Given the description of an element on the screen output the (x, y) to click on. 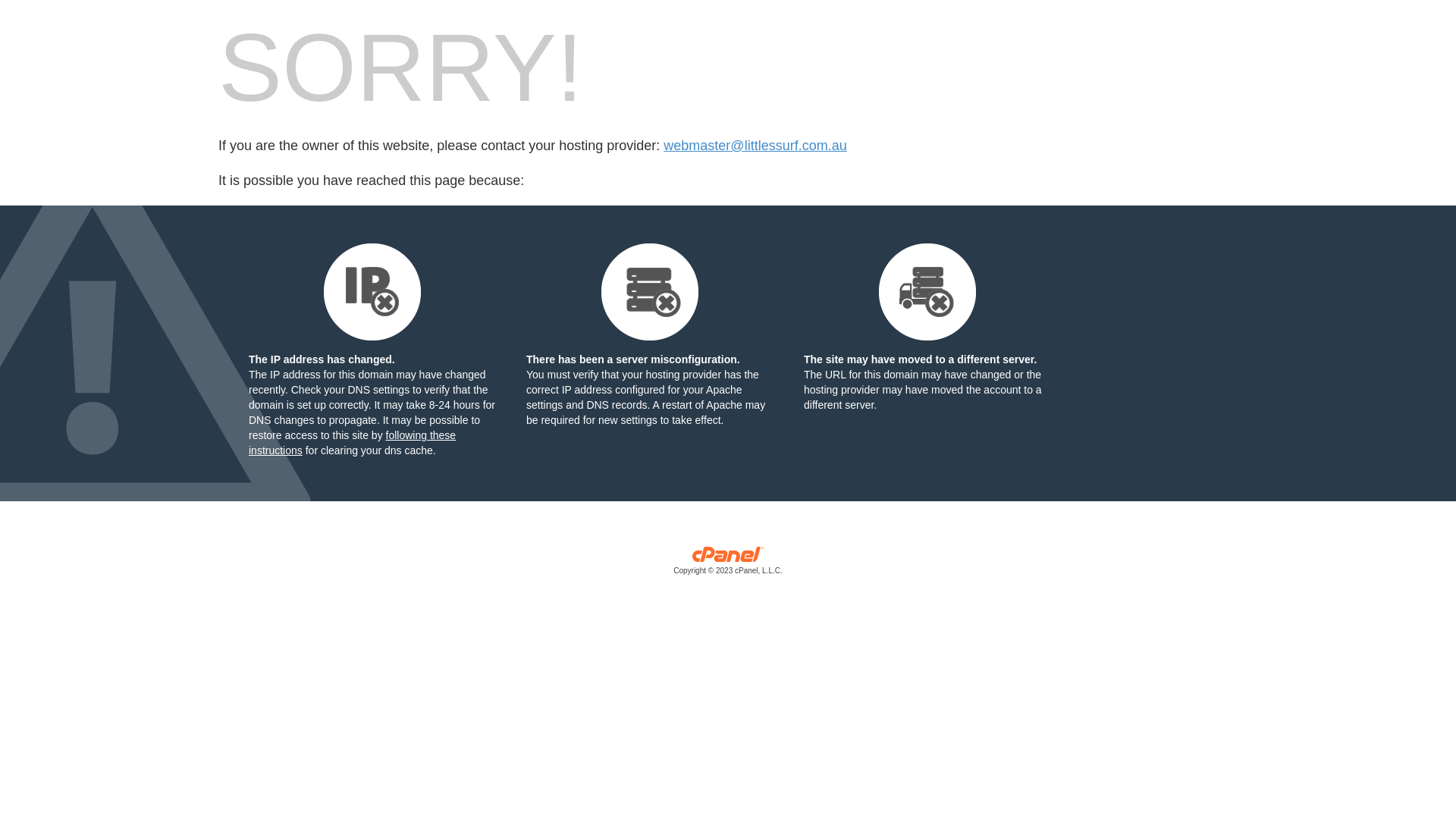
following these instructions Element type: text (351, 442)
webmaster@littlessurf.com.au Element type: text (754, 145)
